Given the description of an element on the screen output the (x, y) to click on. 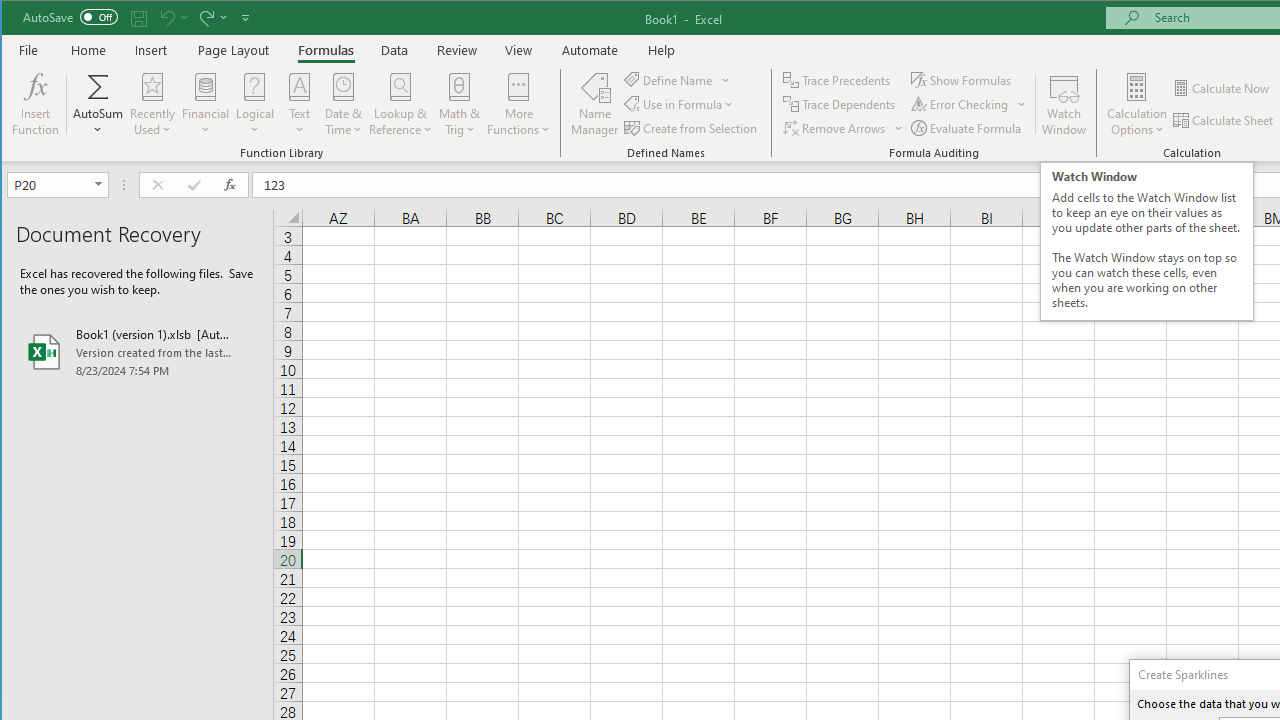
More Functions (518, 104)
Date & Time (343, 104)
Calculation Options (1136, 104)
AutoSum (97, 104)
Define Name (677, 80)
Name Manager (594, 104)
Error Checking... (968, 103)
Sum (97, 86)
Insert Function... (35, 104)
Lookup & Reference (401, 104)
